Given the description of an element on the screen output the (x, y) to click on. 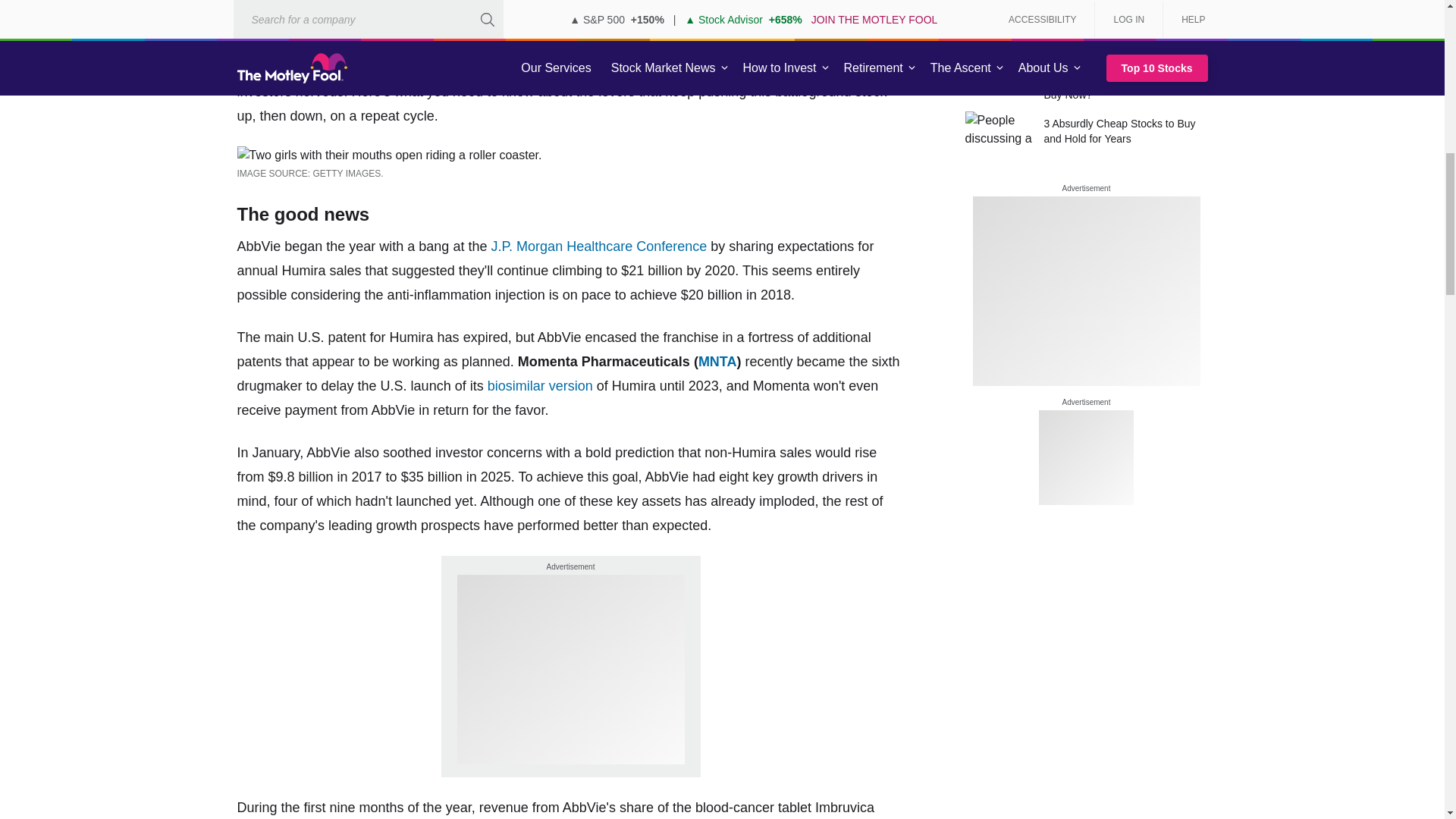
2018 J.P. Morgan Healthcare Conference Roundup (598, 246)
What Is a Biosimilar? (539, 385)
